Given the description of an element on the screen output the (x, y) to click on. 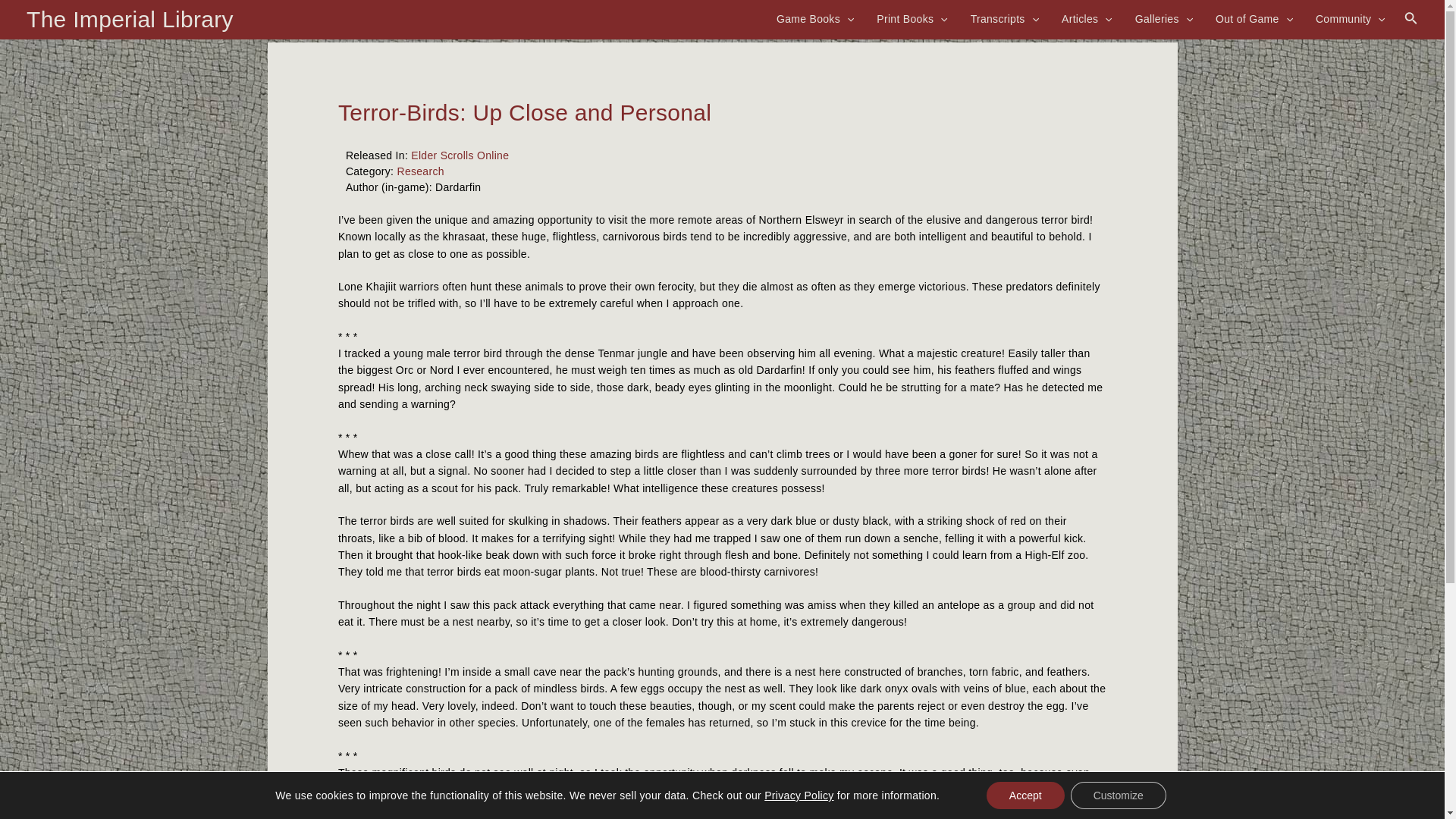
The Imperial Library (129, 18)
Game Books (815, 18)
Articles (1087, 18)
Print Books (911, 18)
Transcripts (1004, 18)
